Given the description of an element on the screen output the (x, y) to click on. 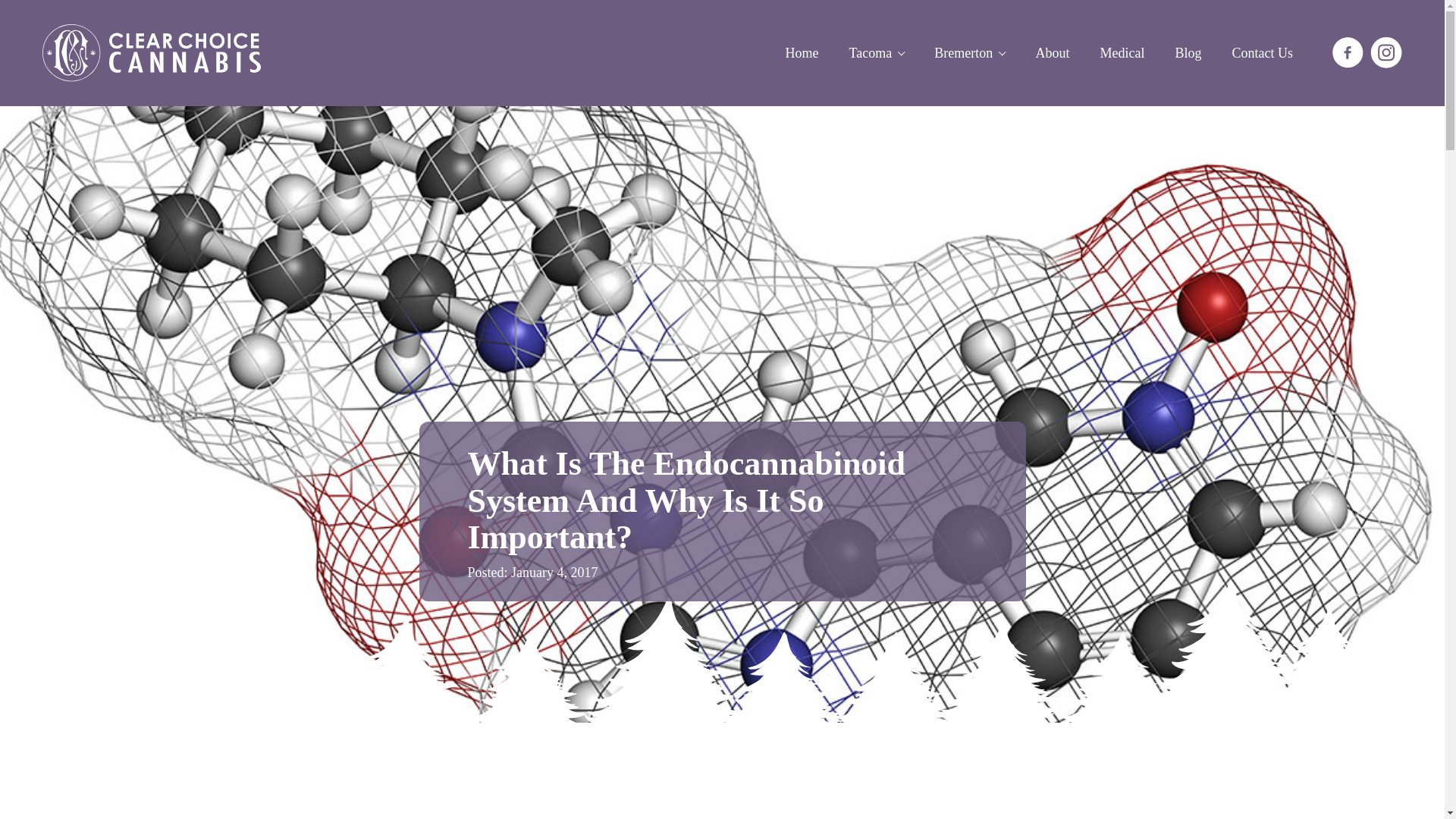
Blog (1186, 52)
Tacoma (875, 52)
Bremerton (969, 52)
About (1052, 52)
Medical (1121, 52)
Home (801, 52)
Contact Us (1261, 52)
